Given the description of an element on the screen output the (x, y) to click on. 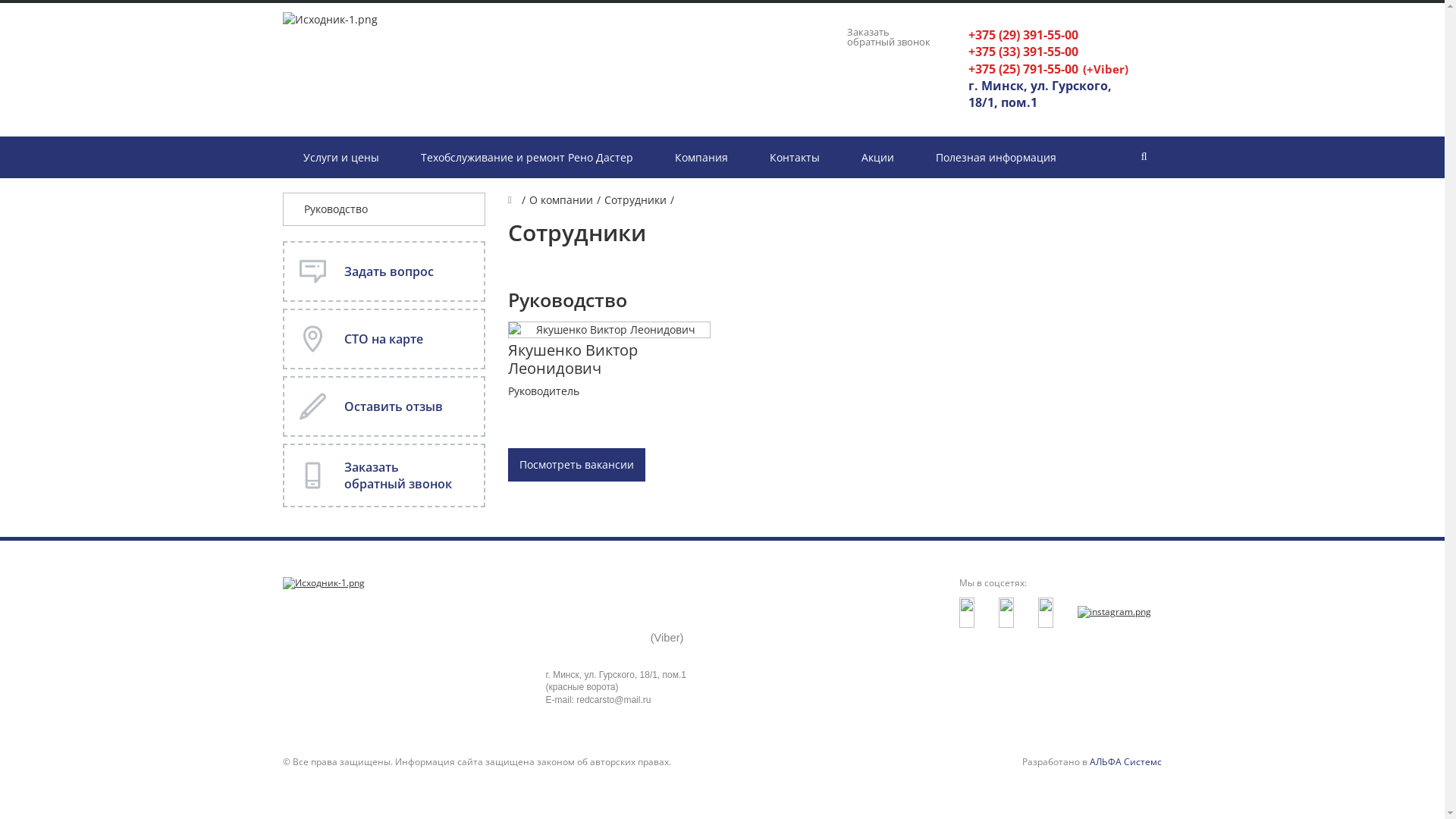
redcarsto@mail.ru Element type: text (613, 699)
instagram.png Element type: hover (1114, 611)
Redcarsto Element type: hover (329, 19)
redcarsto.by Element type: hover (323, 583)
+375 (25) 791-55-00 Element type: text (1022, 66)
+375 (29) 391-55-00 Element type: text (1022, 32)
+375 (29) 391-55-00 Element type: text (596, 594)
+375 (33) 391-55-00 Element type: text (1022, 49)
+375 (33) 391-55-00 Element type: text (596, 615)
+375 (25) 791-55-00 Element type: text (596, 635)
